Given the description of an element on the screen output the (x, y) to click on. 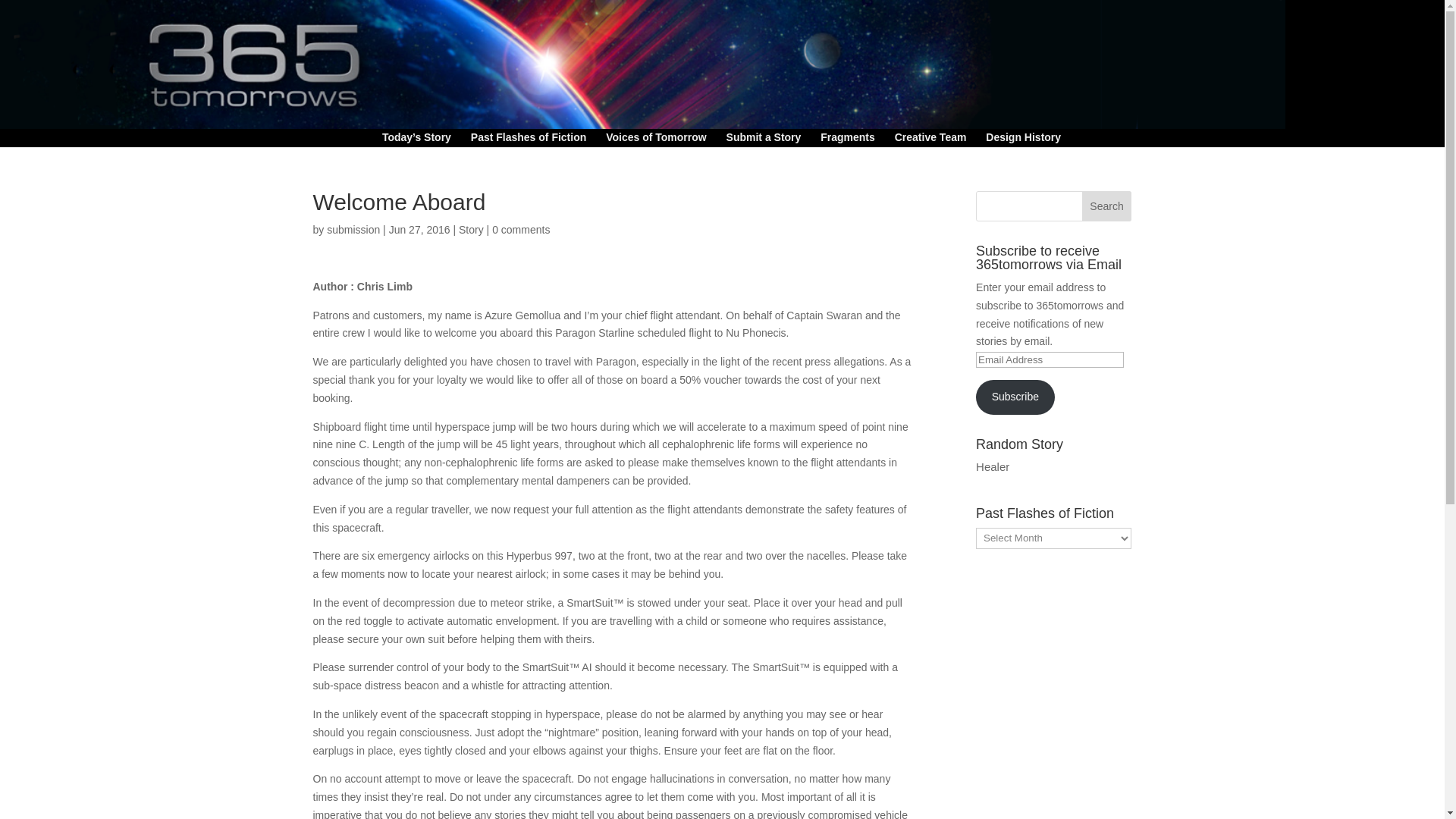
Past Flashes of Fiction (528, 139)
Story (470, 229)
Healer (992, 466)
Design History (1023, 139)
Subscribe (1014, 397)
submission (353, 229)
Search (1106, 205)
Fragments (848, 139)
Search (1106, 205)
Creative Team (930, 139)
